Given the description of an element on the screen output the (x, y) to click on. 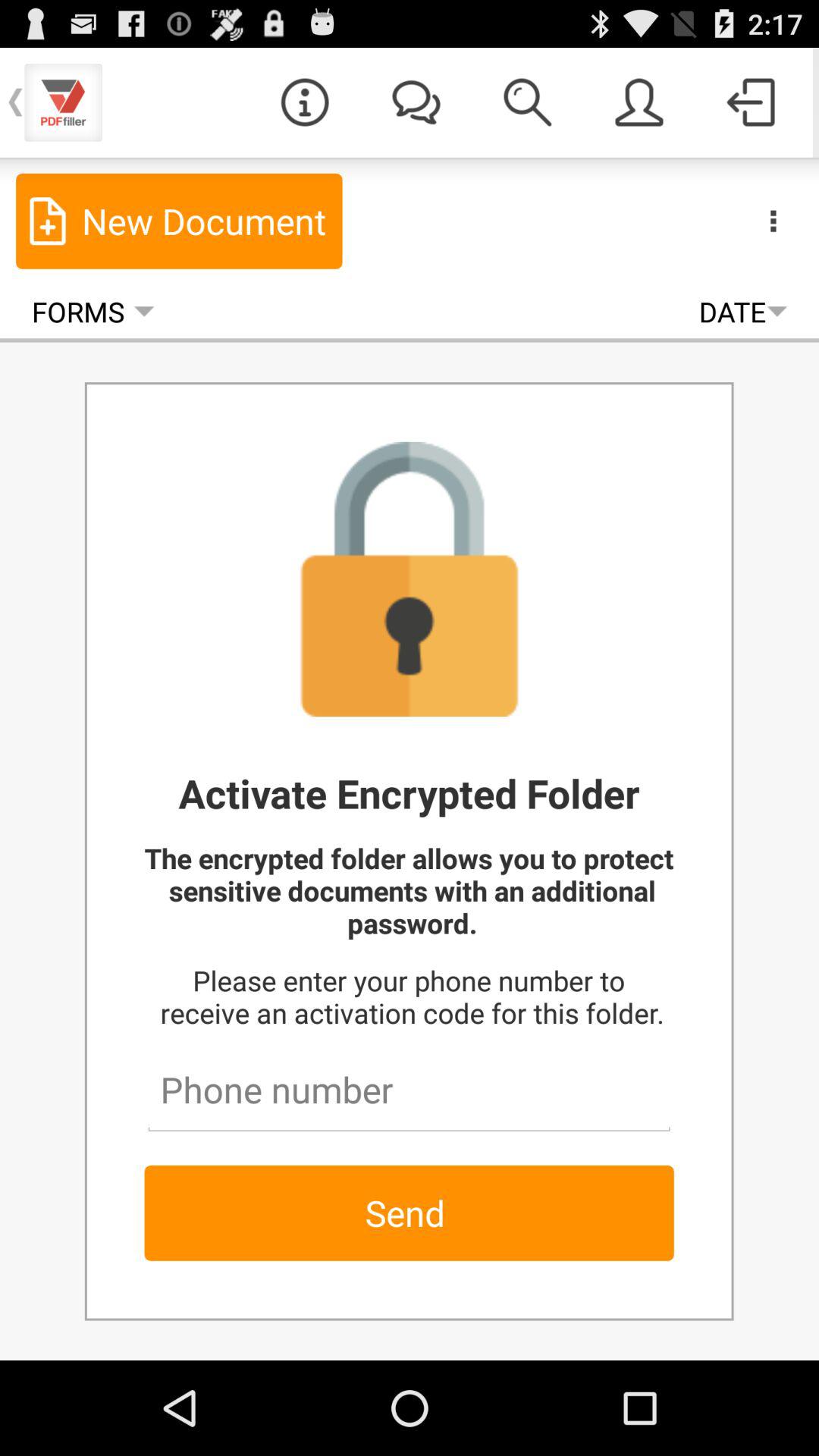
choose item above the new document button (304, 102)
